Given the description of an element on the screen output the (x, y) to click on. 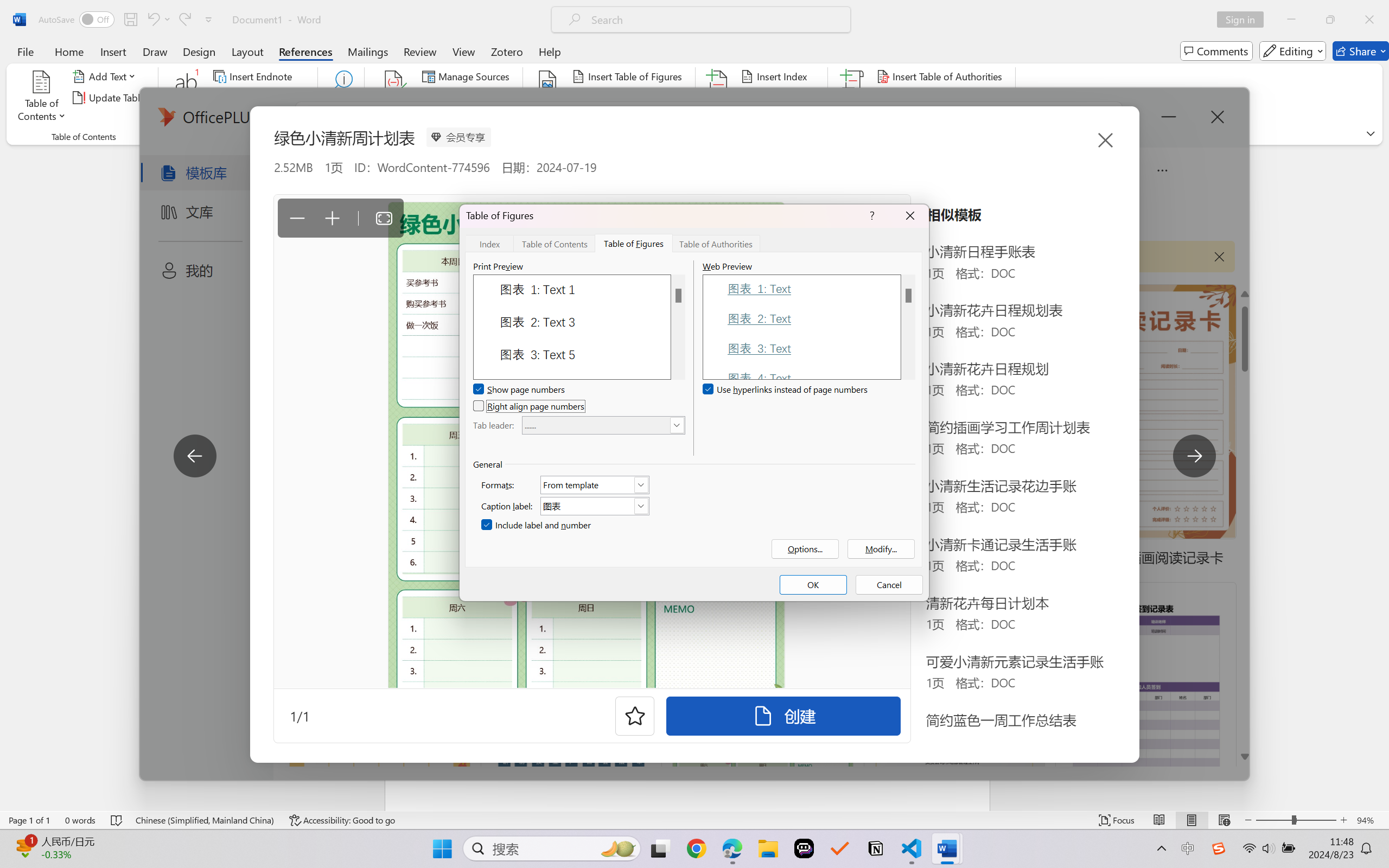
Insert Citation (393, 97)
Mark Entry... (718, 97)
Table of Authorities (716, 243)
Caption label: (595, 505)
Index (489, 243)
